Given the description of an element on the screen output the (x, y) to click on. 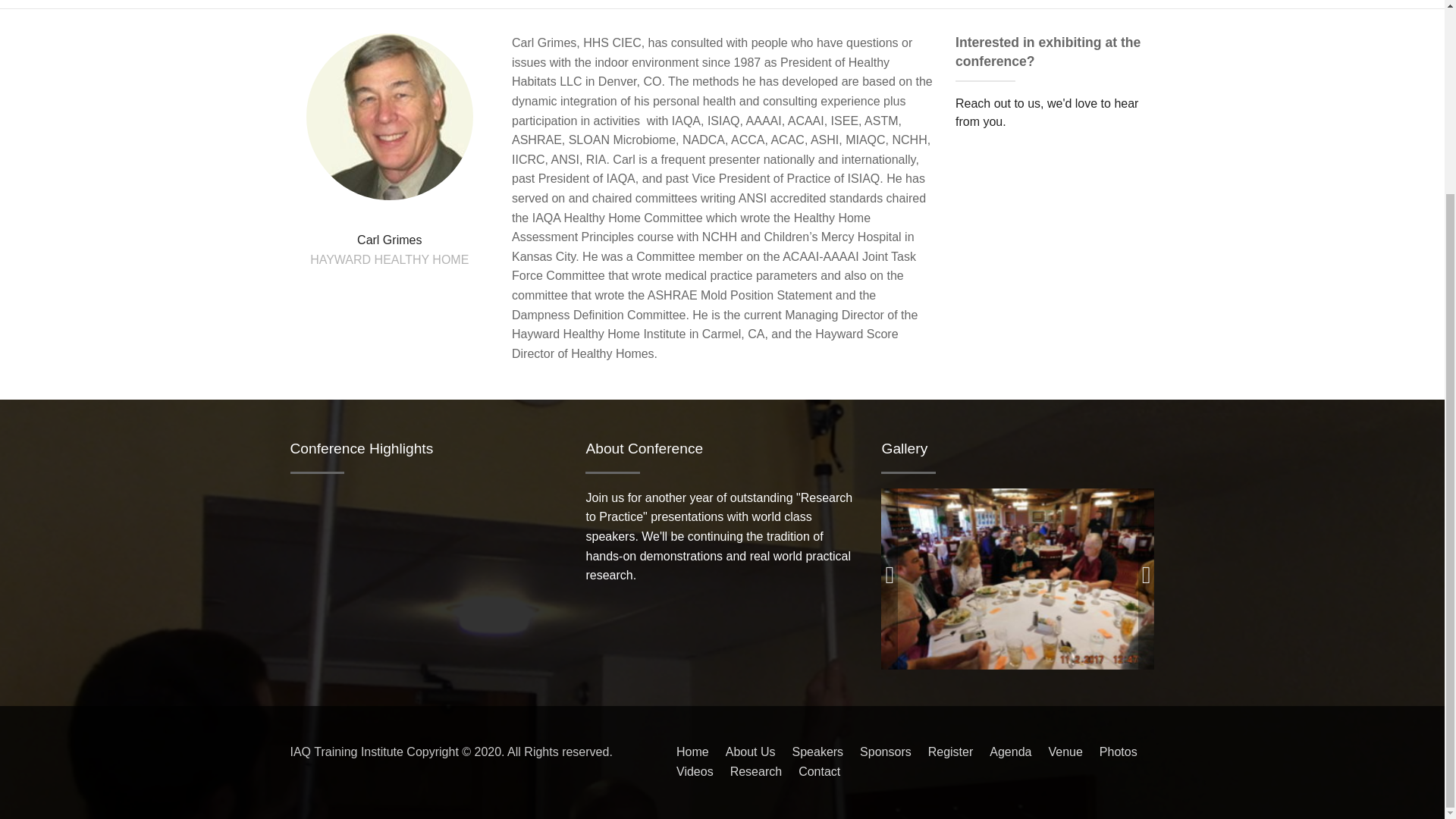
Videos (695, 772)
Contact (818, 772)
Agenda (1010, 752)
Sponsors (885, 752)
Research (755, 772)
Speakers (818, 752)
Venue (1064, 752)
Home (693, 752)
HAYWARD HEALTHY HOME (389, 259)
Photos (1118, 752)
Past Conference Photos (1017, 577)
Register (951, 752)
About Us (750, 752)
